Given the description of an element on the screen output the (x, y) to click on. 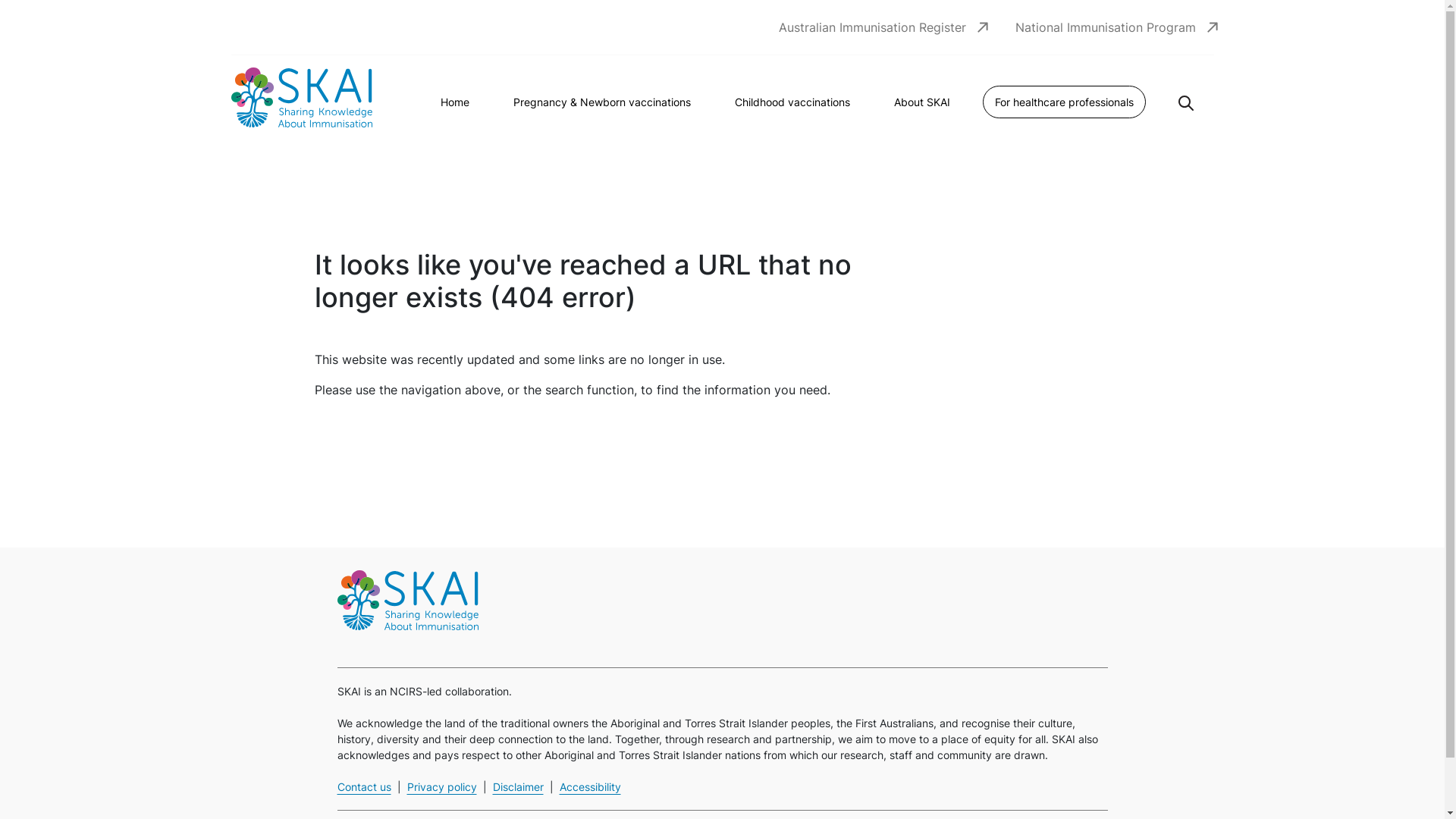
National Immunisation Program Element type: text (1104, 26)
About SKAI Element type: text (921, 101)
Australian Immunisation Register Element type: text (871, 26)
Contact us Element type: text (363, 786)
Privacy policy Element type: text (441, 786)
For healthcare professionals Element type: text (1063, 101)
Accessibility Element type: text (590, 786)
Home Element type: text (454, 101)
Childhood vaccinations Element type: text (792, 101)
Disclaimer Element type: text (517, 786)
Pregnancy & Newborn vaccinations Element type: text (602, 101)
